Given the description of an element on the screen output the (x, y) to click on. 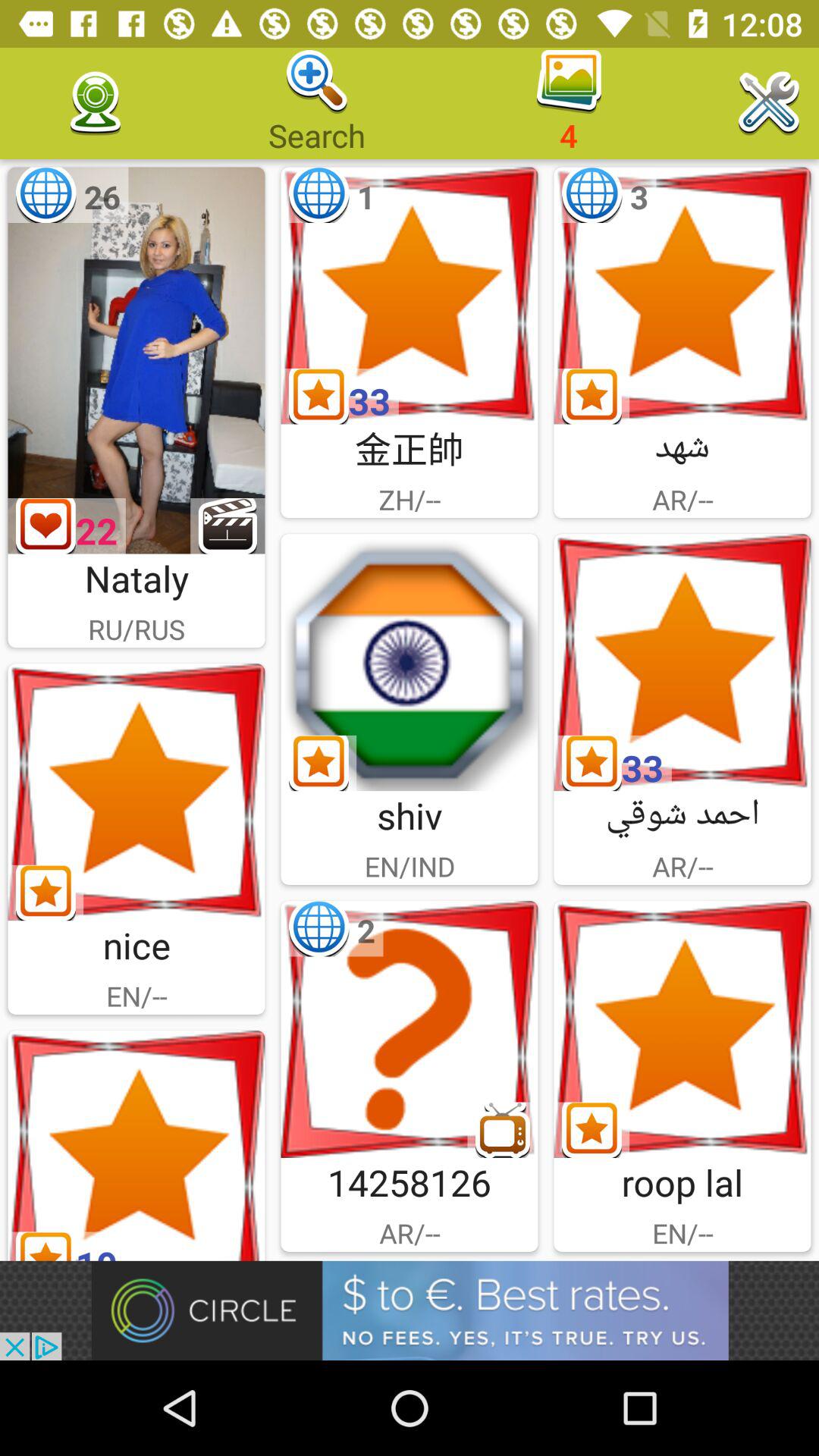
open images (136, 1145)
